Given the description of an element on the screen output the (x, y) to click on. 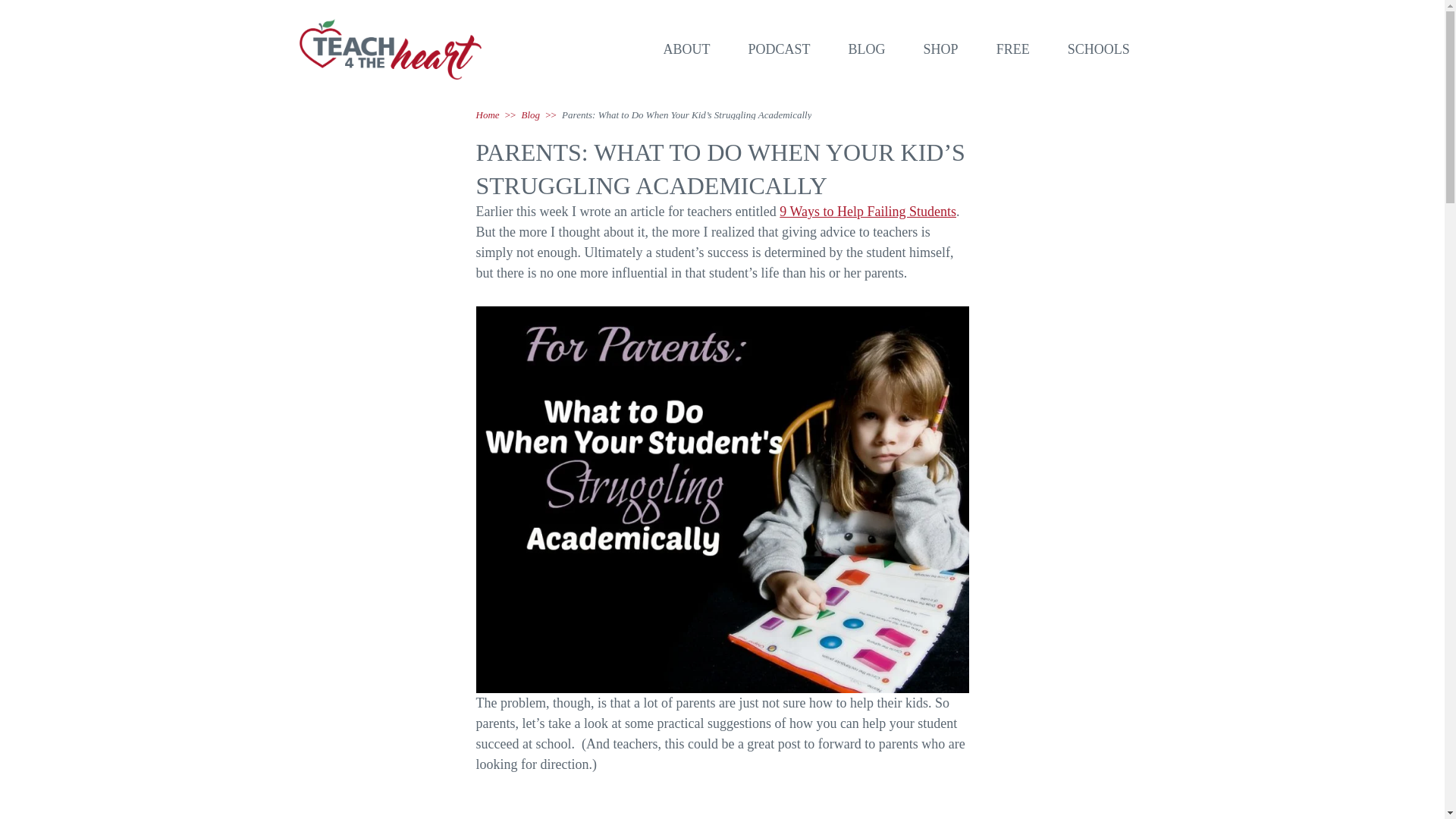
SHOP (940, 49)
BLOG (866, 49)
9 Ways to Help Failing Students (867, 211)
ABOUT (686, 49)
FREE (1012, 49)
9 Ways to Help Failing Students (867, 211)
PODCAST (779, 49)
Blog (530, 114)
Home (487, 114)
SCHOOLS (1098, 49)
